Given the description of an element on the screen output the (x, y) to click on. 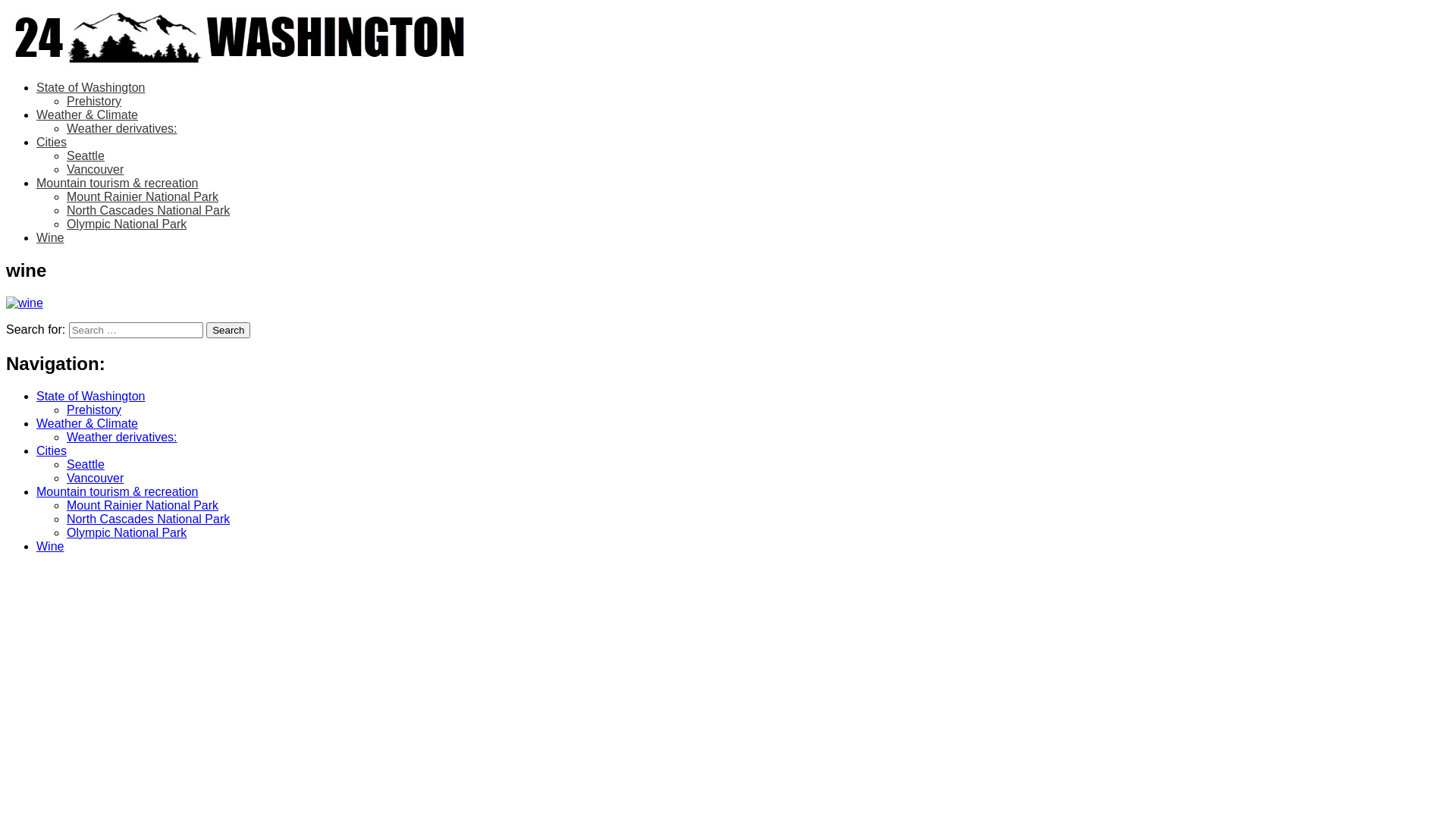
Search Element type: text (228, 330)
Vancouver Element type: text (94, 169)
State of Washington Element type: text (90, 395)
Wine Element type: text (49, 237)
Weather derivatives: Element type: text (121, 128)
Cities Element type: text (51, 141)
Weather derivatives: Element type: text (121, 436)
Mountain tourism & recreation Element type: text (116, 182)
North Cascades National Park Element type: text (147, 518)
Weather & Climate Element type: text (87, 423)
Washington 24 Element type: text (91, 98)
Vancouver Element type: text (94, 477)
Weather & Climate Element type: text (87, 114)
Mount Rainier National Park Element type: text (142, 504)
Mount Rainier National Park Element type: text (142, 196)
Wine Element type: text (49, 545)
Olympic National Park Element type: text (126, 532)
North Cascades National Park Element type: text (147, 209)
Mountain tourism & recreation Element type: text (116, 491)
Seattle Element type: text (85, 464)
State of Washington Element type: text (90, 87)
Olympic National Park Element type: text (126, 223)
Prehistory Element type: text (93, 100)
Prehistory Element type: text (93, 409)
Cities Element type: text (51, 450)
Seattle Element type: text (85, 155)
